Given the description of an element on the screen output the (x, y) to click on. 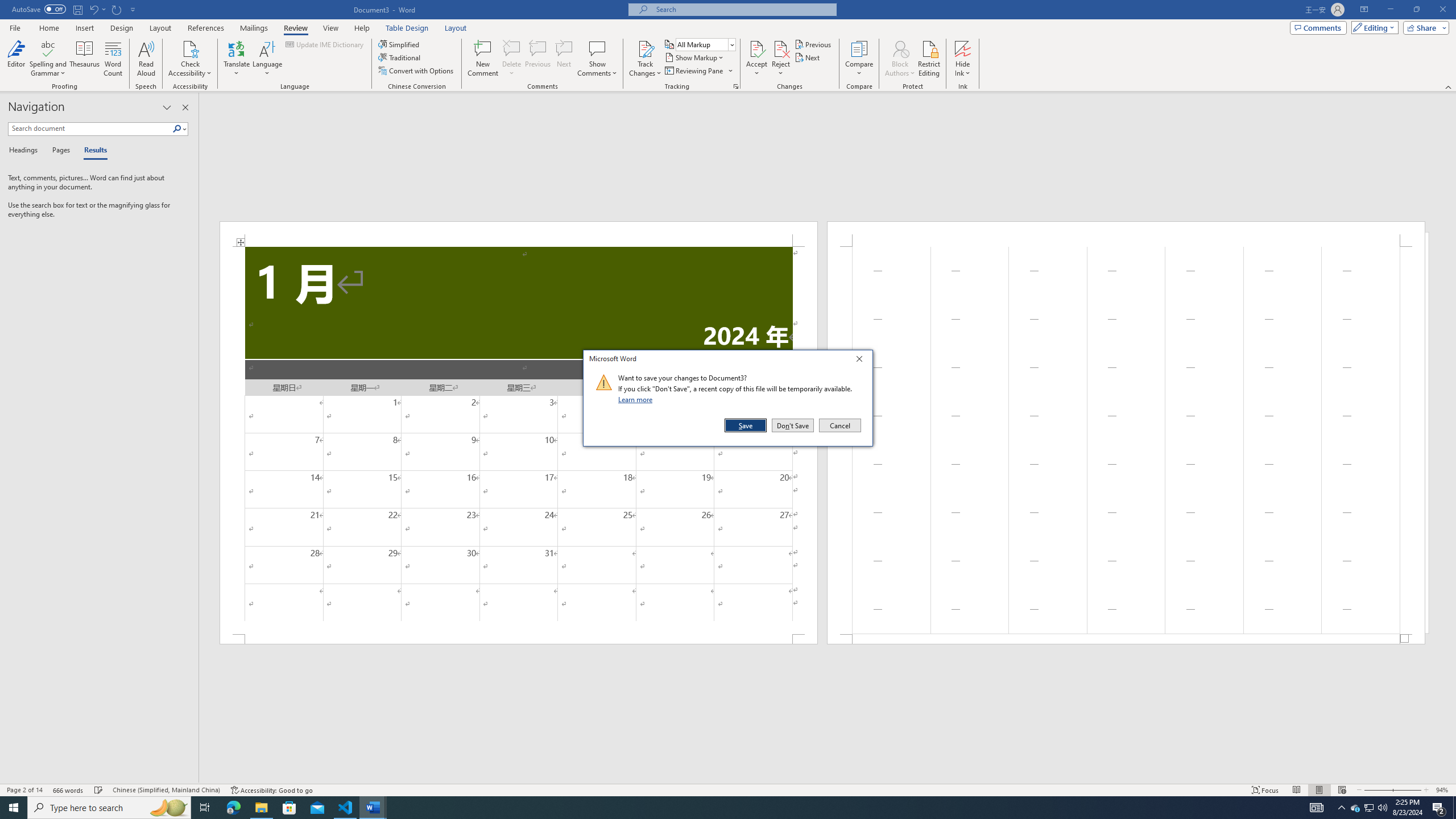
Editor (16, 58)
New Comment (482, 58)
Save (746, 425)
Read Aloud (145, 58)
Reject (780, 58)
Display for Review (705, 44)
Reviewing Pane (698, 69)
Show Comments (597, 58)
Layout (455, 28)
Reject and Move to Next (780, 48)
Don't Save (792, 425)
Repeat Doc Close (117, 9)
Microsoft Store (289, 807)
